Given the description of an element on the screen output the (x, y) to click on. 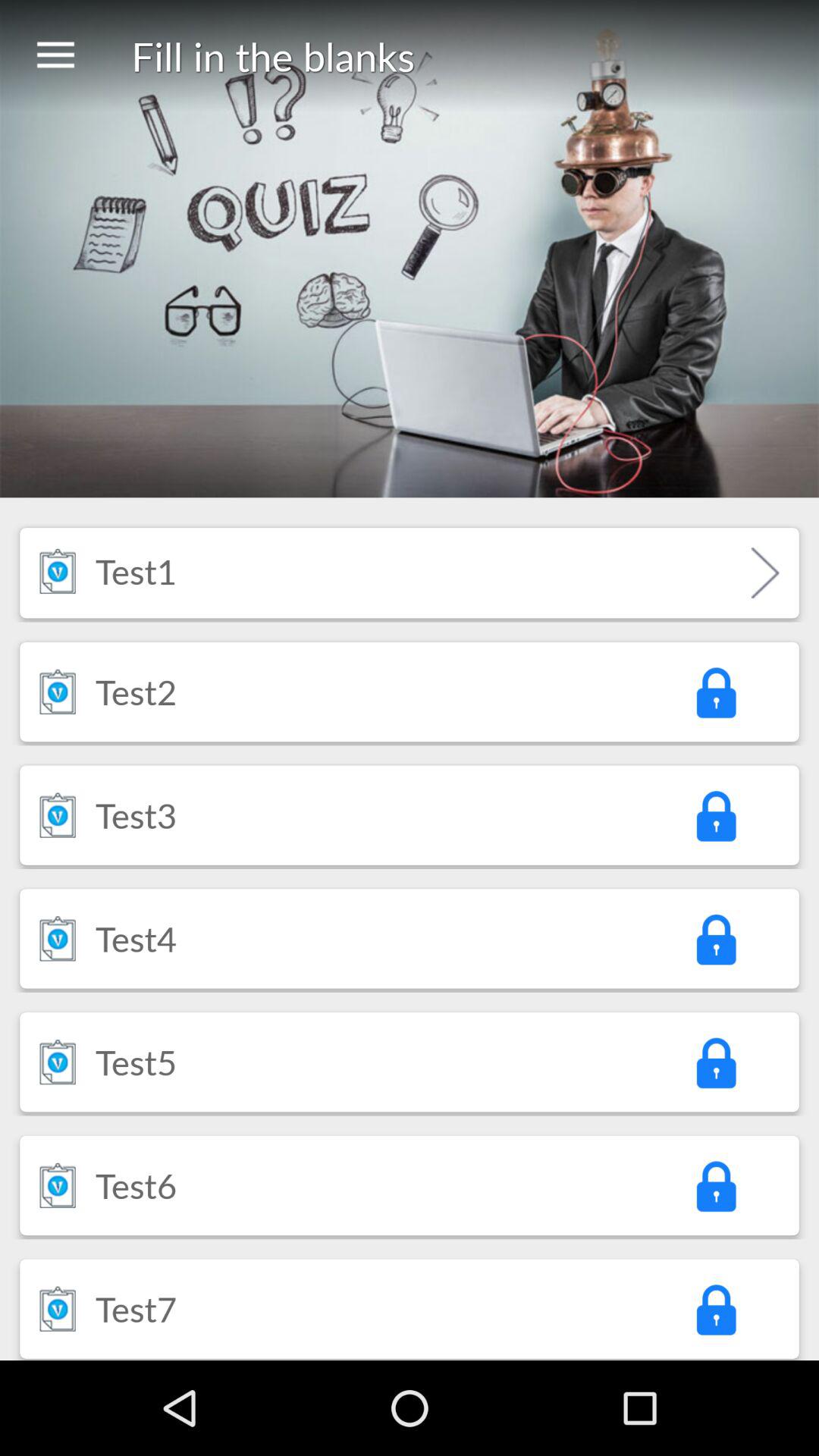
select the item to the right of the test1 icon (765, 572)
